Given the description of an element on the screen output the (x, y) to click on. 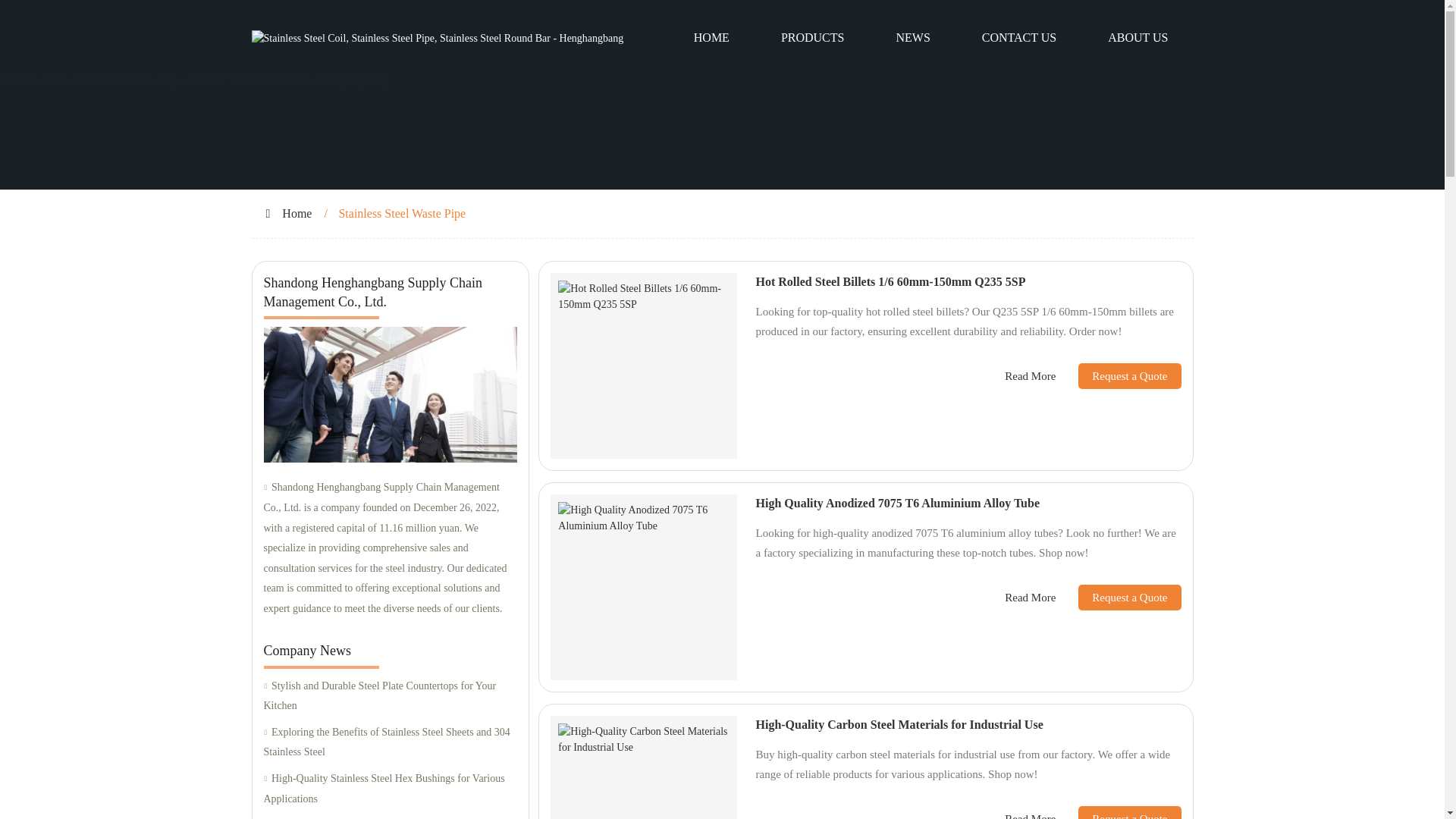
High Quality Anodized 7075 T6 Aluminium Alloy Tube (897, 502)
Home (296, 213)
Stylish and Durable Steel Plate Countertops for Your Kitchen (389, 696)
Read More (1029, 375)
PRODUCTS (812, 38)
Request a Quote (1117, 376)
